Given the description of an element on the screen output the (x, y) to click on. 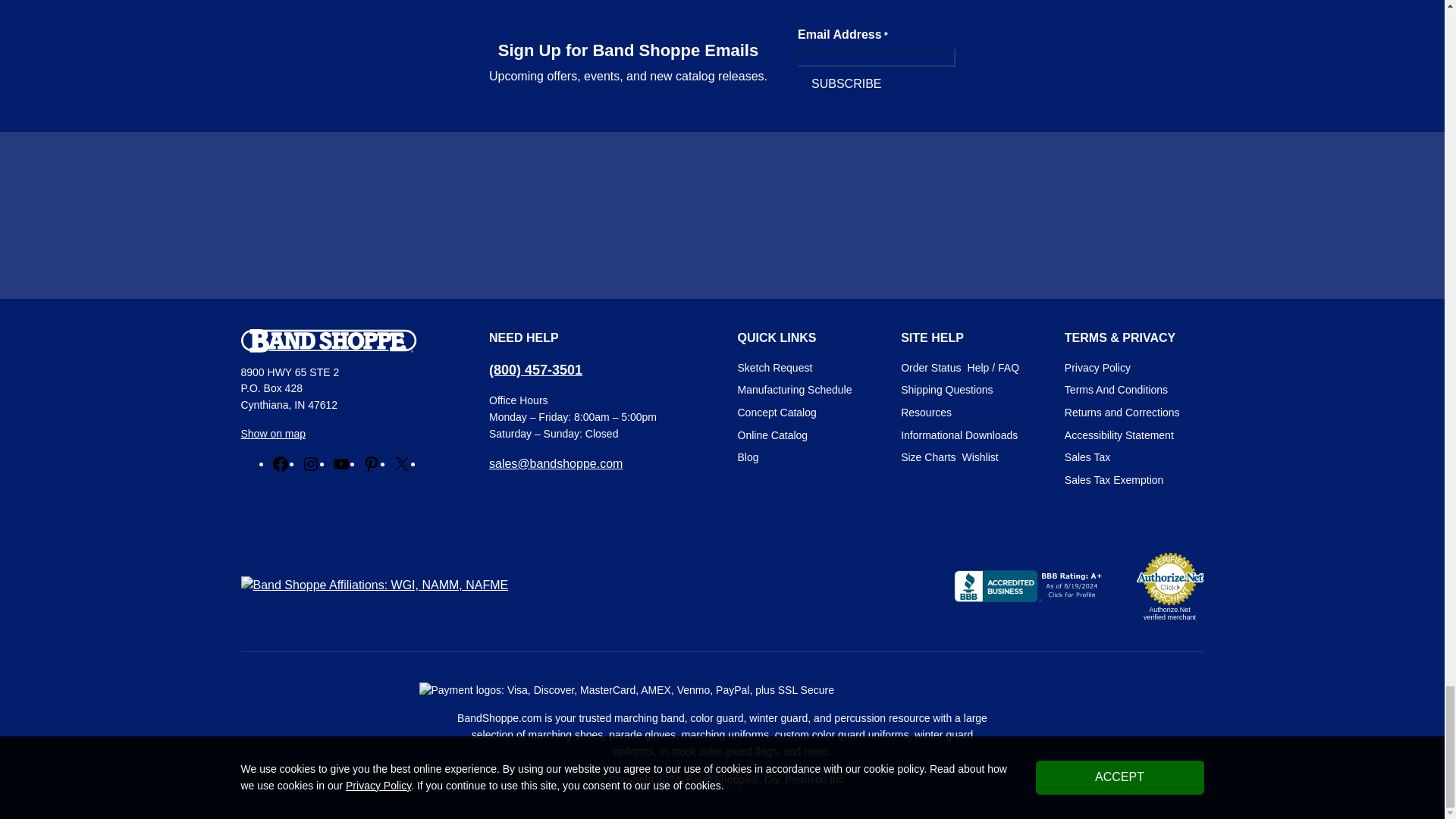
Customer reviews powered by Trustpilot (722, 215)
Authorize.Net verified merchant (1169, 585)
Subscribe (846, 84)
